Given the description of an element on the screen output the (x, y) to click on. 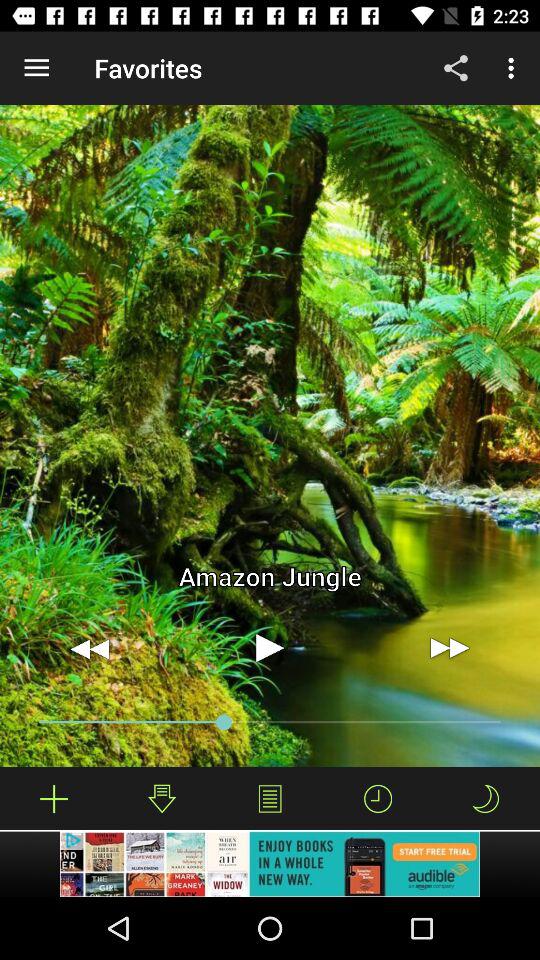
download song (162, 798)
